Given the description of an element on the screen output the (x, y) to click on. 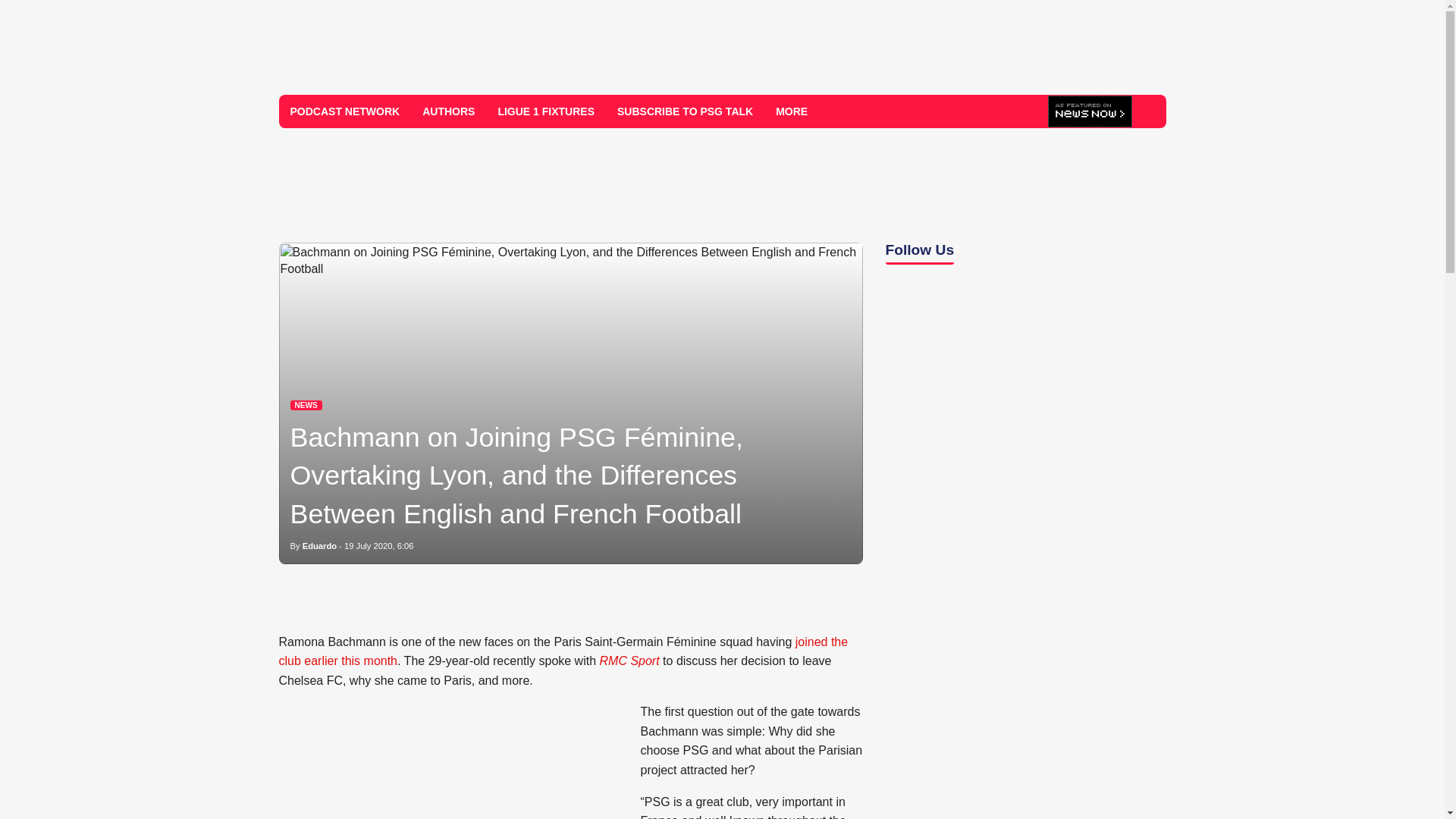
MORE (796, 111)
Latest News News (305, 405)
Click here for more PSG news from NewsNow (1090, 111)
AUTHORS (448, 111)
SUBSCRIBE TO PSG TALK (684, 111)
joined the club earlier this month (563, 651)
19 July 2020, 6:06 (378, 545)
NEWS (305, 405)
Search (1147, 111)
LIGUE 1 FIXTURES (545, 111)
